Given the description of an element on the screen output the (x, y) to click on. 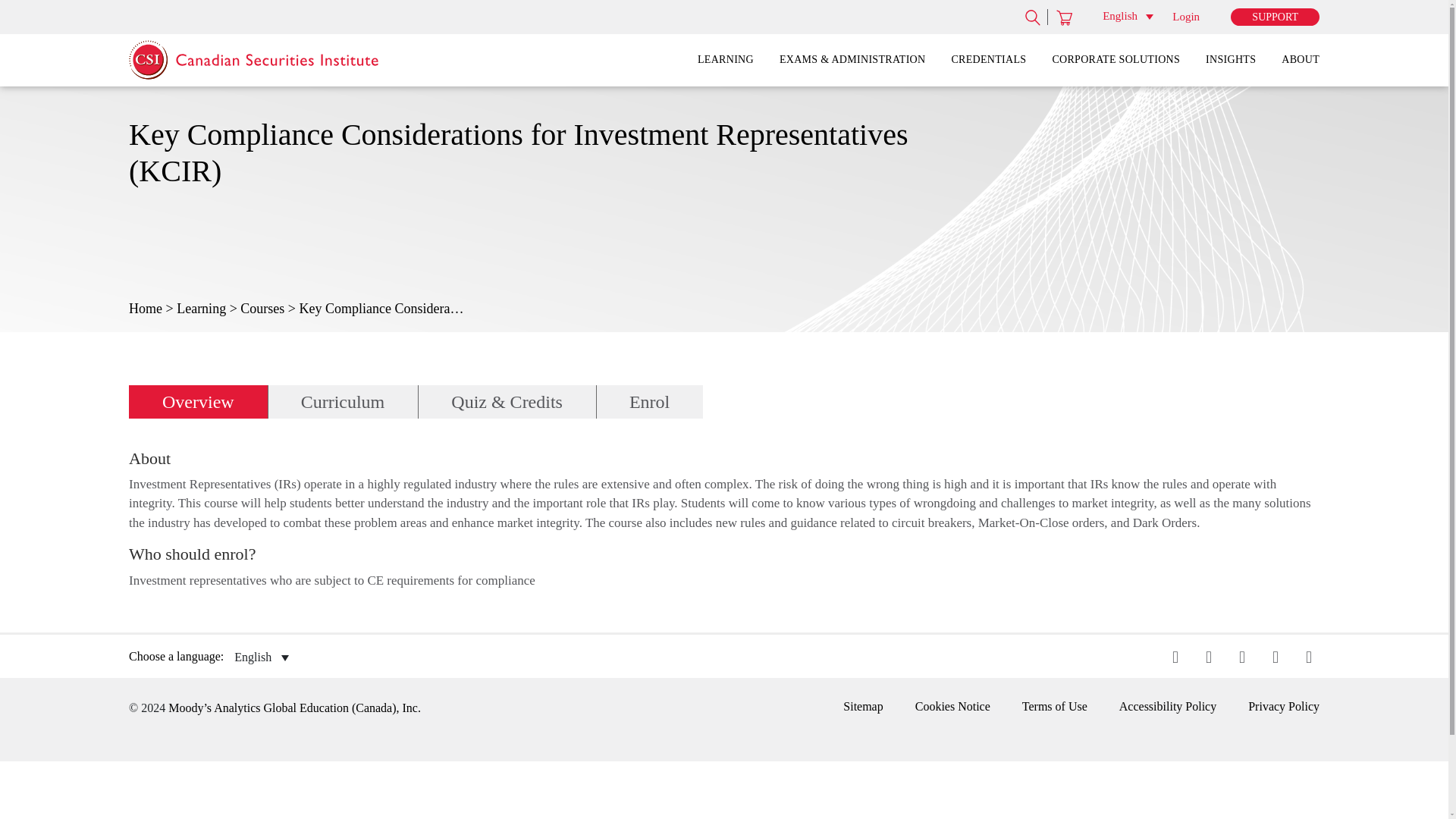
English (1127, 15)
SUPPORT (1274, 16)
LEARNING (725, 60)
SUPPORT (1274, 16)
Canadian Securities Institute Home (229, 57)
Login (1185, 16)
